Given the description of an element on the screen output the (x, y) to click on. 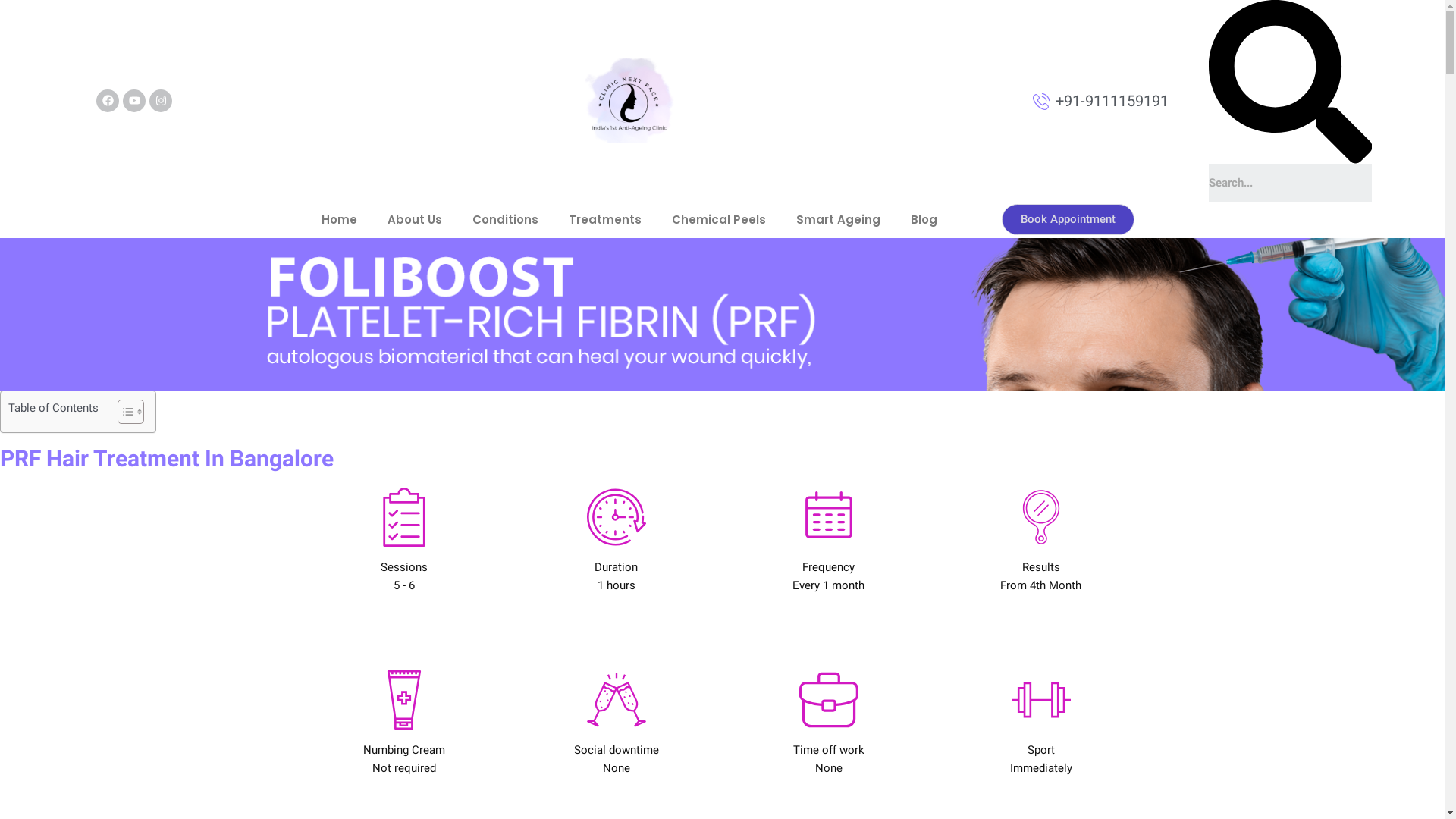
Chemical Peels Element type: text (718, 219)
PRF Treatment For Hair 5 Element type: hover (403, 699)
PRF Treatment For Hair 2 Element type: hover (616, 516)
PRF Treatment For Hair 3 Element type: hover (828, 516)
PRF Treatment For Hair 7 Element type: hover (828, 699)
Treatments Element type: text (604, 219)
Home Element type: text (339, 219)
About Us Element type: text (414, 219)
PRF Treatment For Hair 8 Element type: hover (1040, 699)
PRF Treatment For Hair 6 Element type: hover (616, 699)
Blog Element type: text (923, 219)
+91-9111159191 Element type: text (1100, 100)
Conditions Element type: text (505, 219)
PRF Treatment For Hair 4 Element type: hover (1040, 516)
Smart Ageing Element type: text (838, 219)
Book Appointment Element type: text (1067, 219)
PRF Treatment For Hair 1 Element type: hover (403, 516)
